Given the description of an element on the screen output the (x, y) to click on. 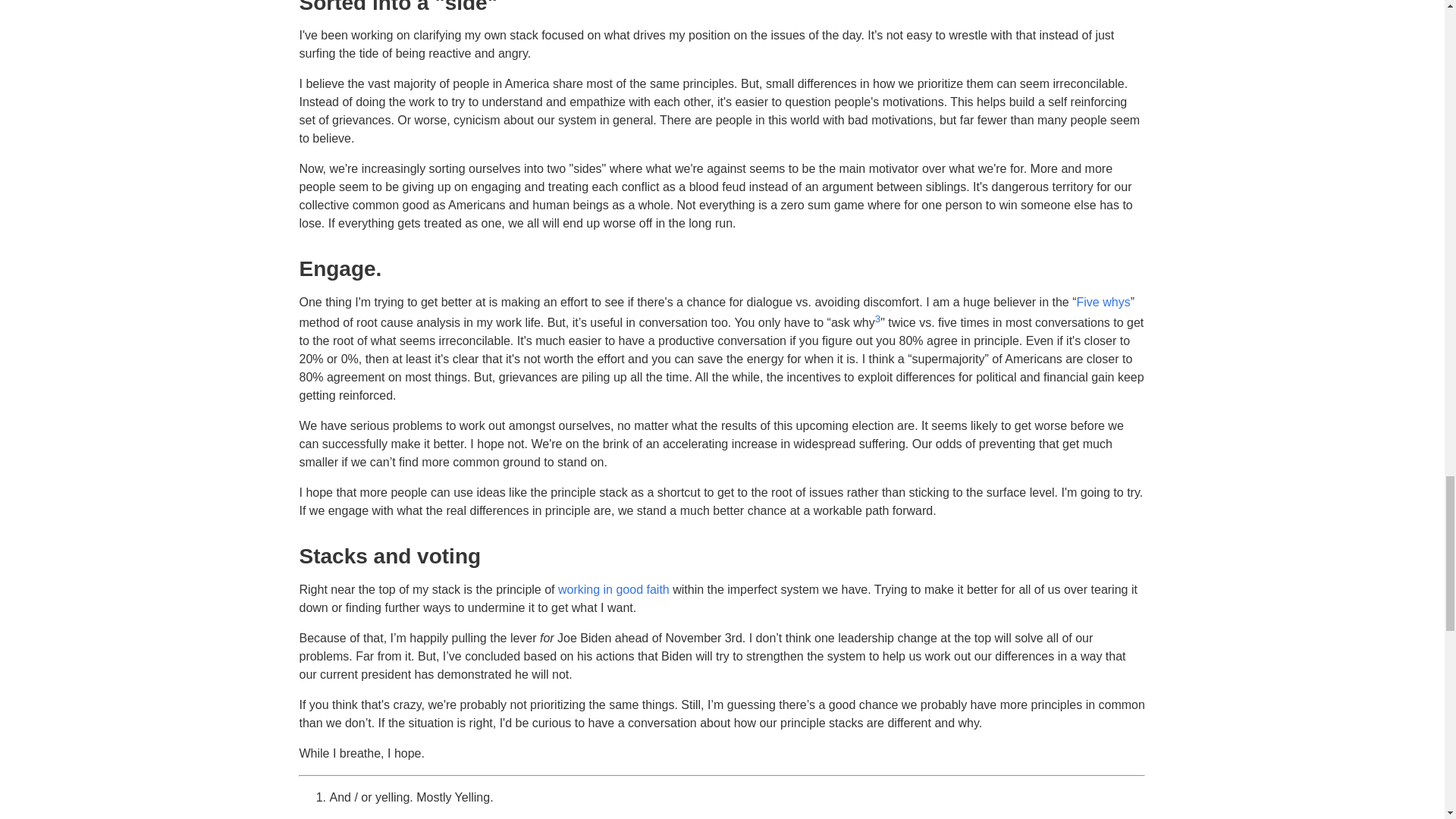
Five whys (1104, 301)
working in good faith (613, 589)
